Given the description of an element on the screen output the (x, y) to click on. 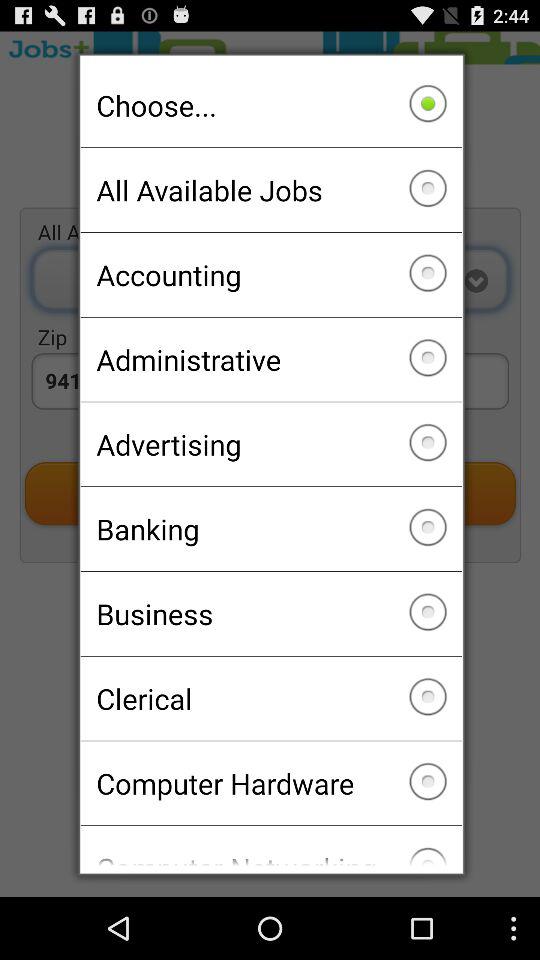
tap all available jobs (270, 190)
